Given the description of an element on the screen output the (x, y) to click on. 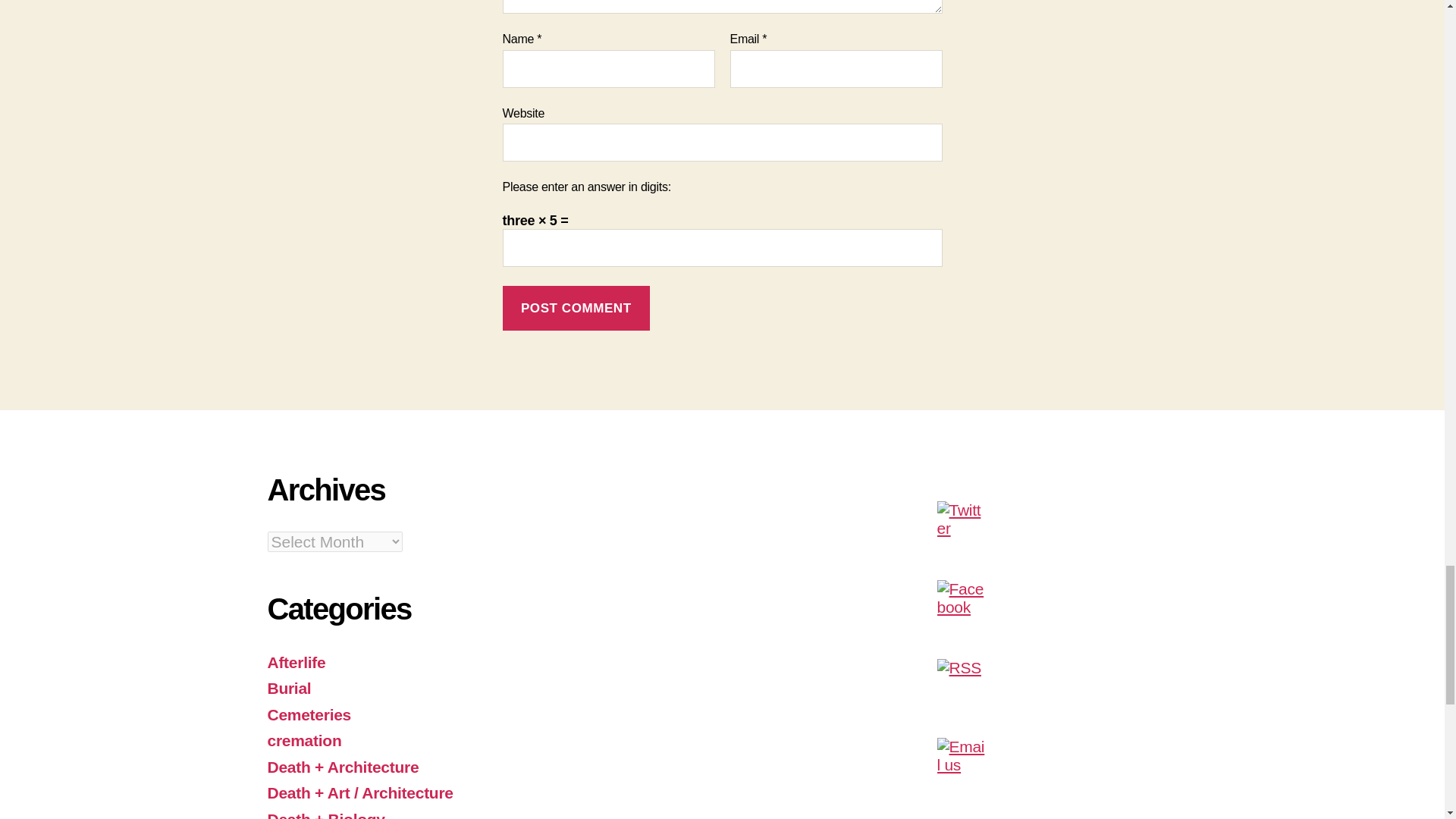
Burial (288, 687)
cremation (303, 740)
Cemeteries (308, 714)
Afterlife (295, 661)
Post Comment (575, 307)
Post Comment (575, 307)
